Given the description of an element on the screen output the (x, y) to click on. 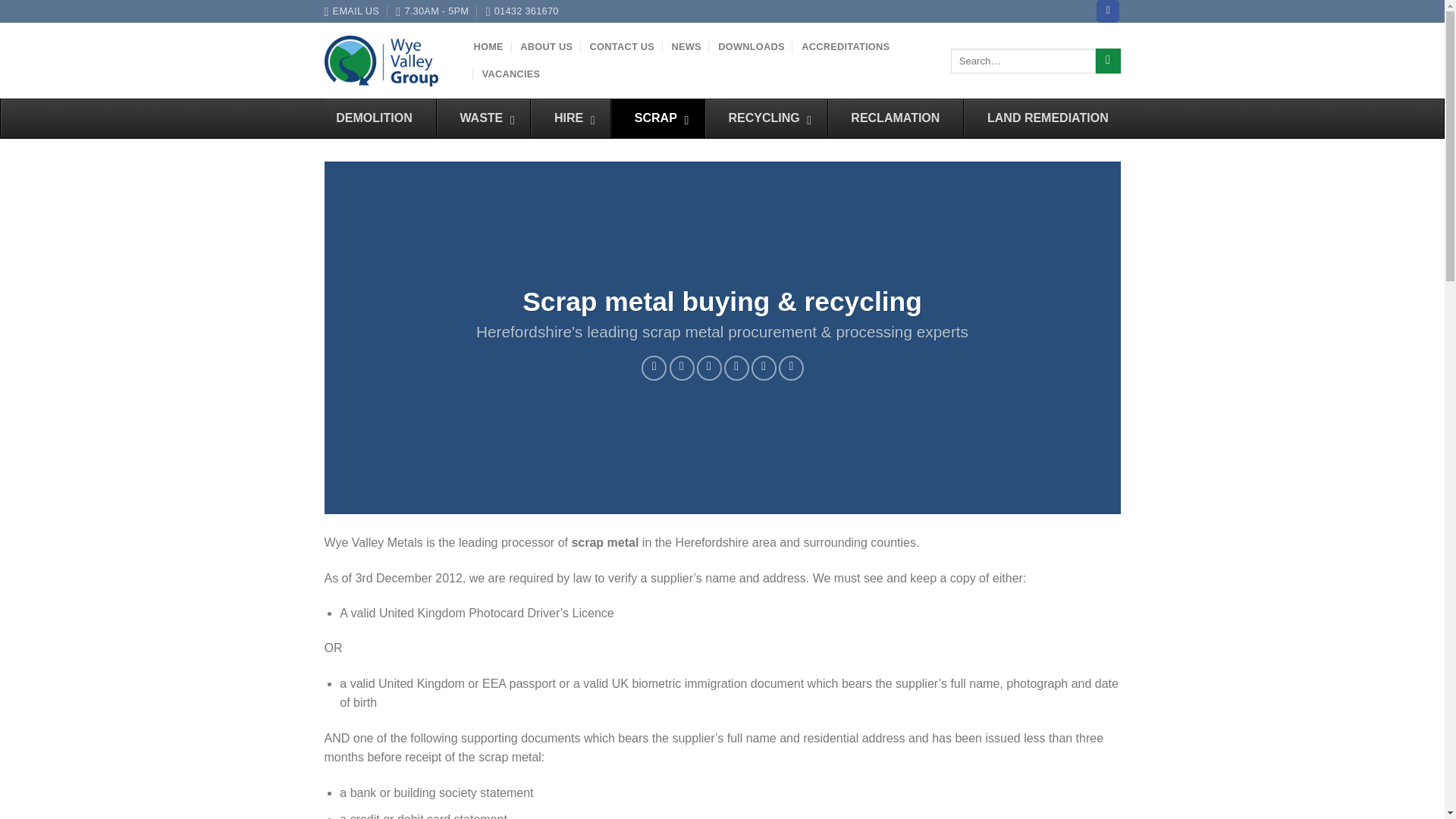
SCRAP (657, 118)
DEMOLITION (374, 118)
7.30AM - 5PM (432, 11)
WASTE (483, 118)
RECYCLING (765, 118)
LAND REMEDIATION (1046, 118)
ACCREDITATIONS (845, 46)
Share on Twitter (681, 367)
HOME (487, 46)
HIRE (569, 118)
